Given the description of an element on the screen output the (x, y) to click on. 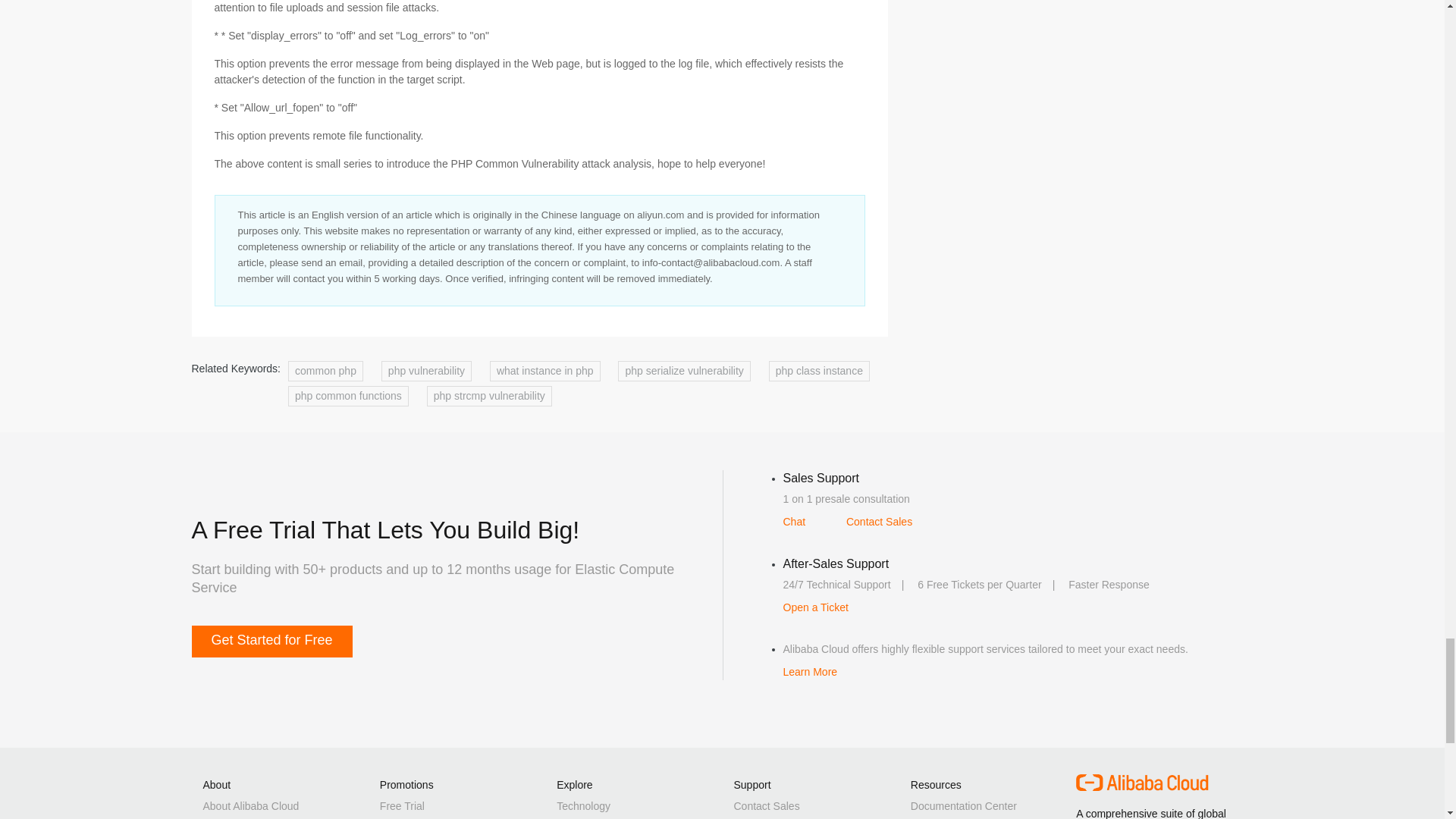
php strcmp vulnerability (488, 395)
php class instance (818, 371)
php common functions (348, 395)
common php (325, 371)
what instance in php (544, 371)
php vulnerability (426, 371)
php serialize vulnerability (683, 371)
